Given the description of an element on the screen output the (x, y) to click on. 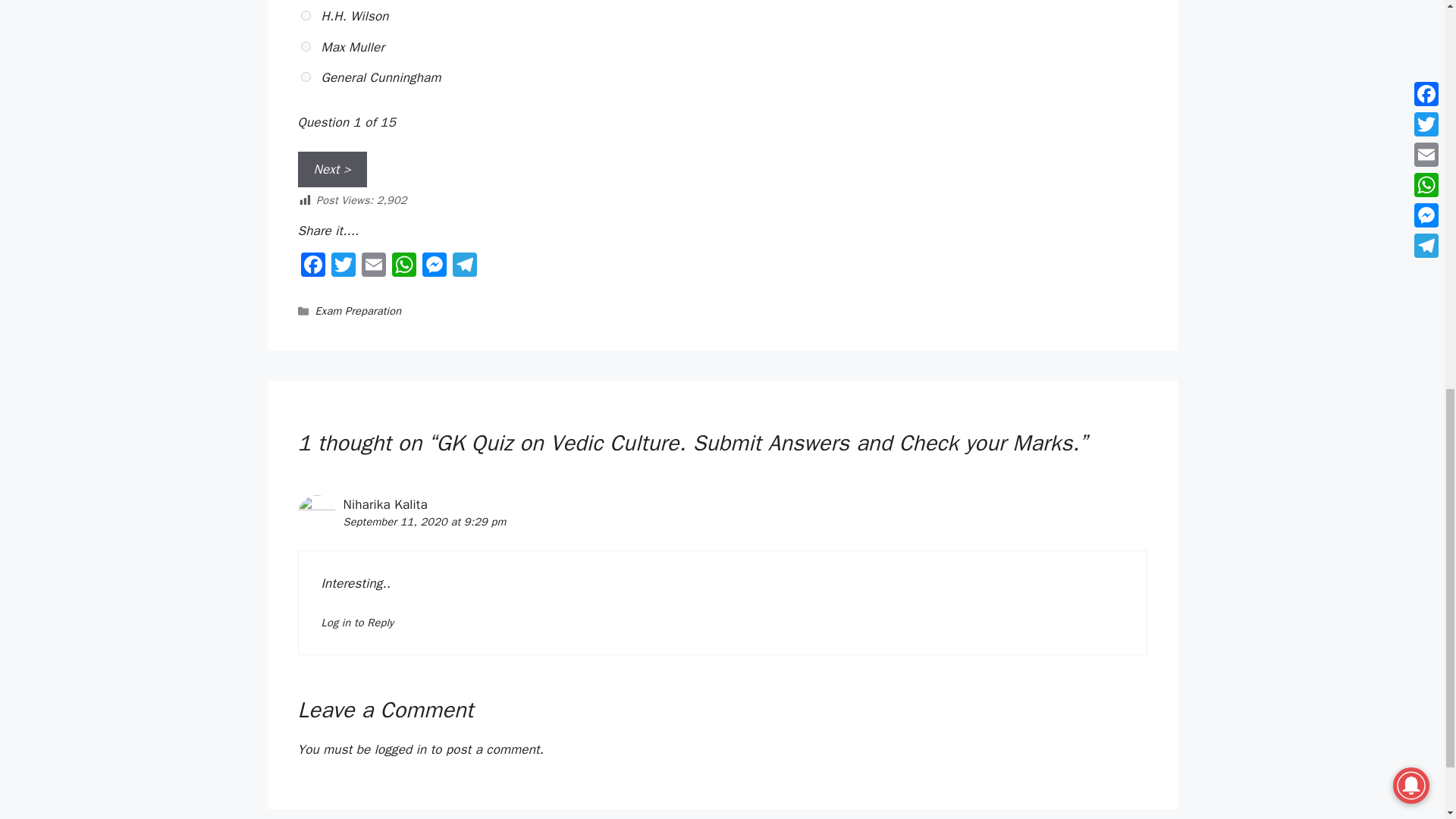
Twitter (342, 266)
Log in to Reply (357, 622)
September 11, 2020 at 9:29 pm (423, 521)
281 (306, 46)
Email (373, 266)
logged in (400, 749)
WhatsApp (403, 266)
Twitter (342, 266)
Email (373, 266)
Facebook (312, 266)
Telegram (463, 266)
Facebook (312, 266)
282 (306, 76)
280 (306, 15)
Messenger (433, 266)
